Given the description of an element on the screen output the (x, y) to click on. 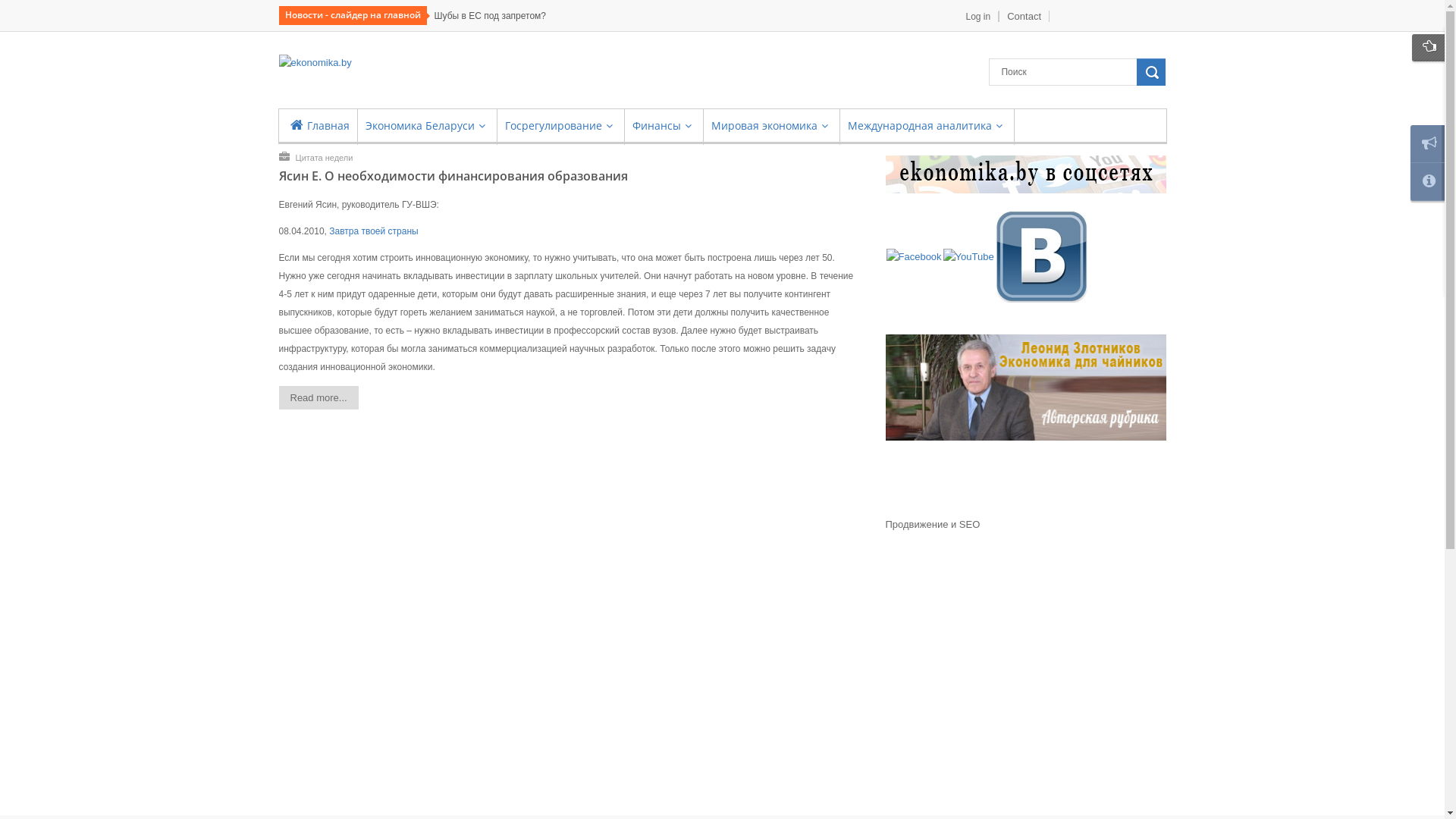
Contact Element type: text (1023, 15)
Advertisement Element type: hover (1025, 685)
ekonomika.by Element type: hover (315, 63)
Log in Element type: text (978, 16)
Read more... Element type: text (318, 397)
